Given the description of an element on the screen output the (x, y) to click on. 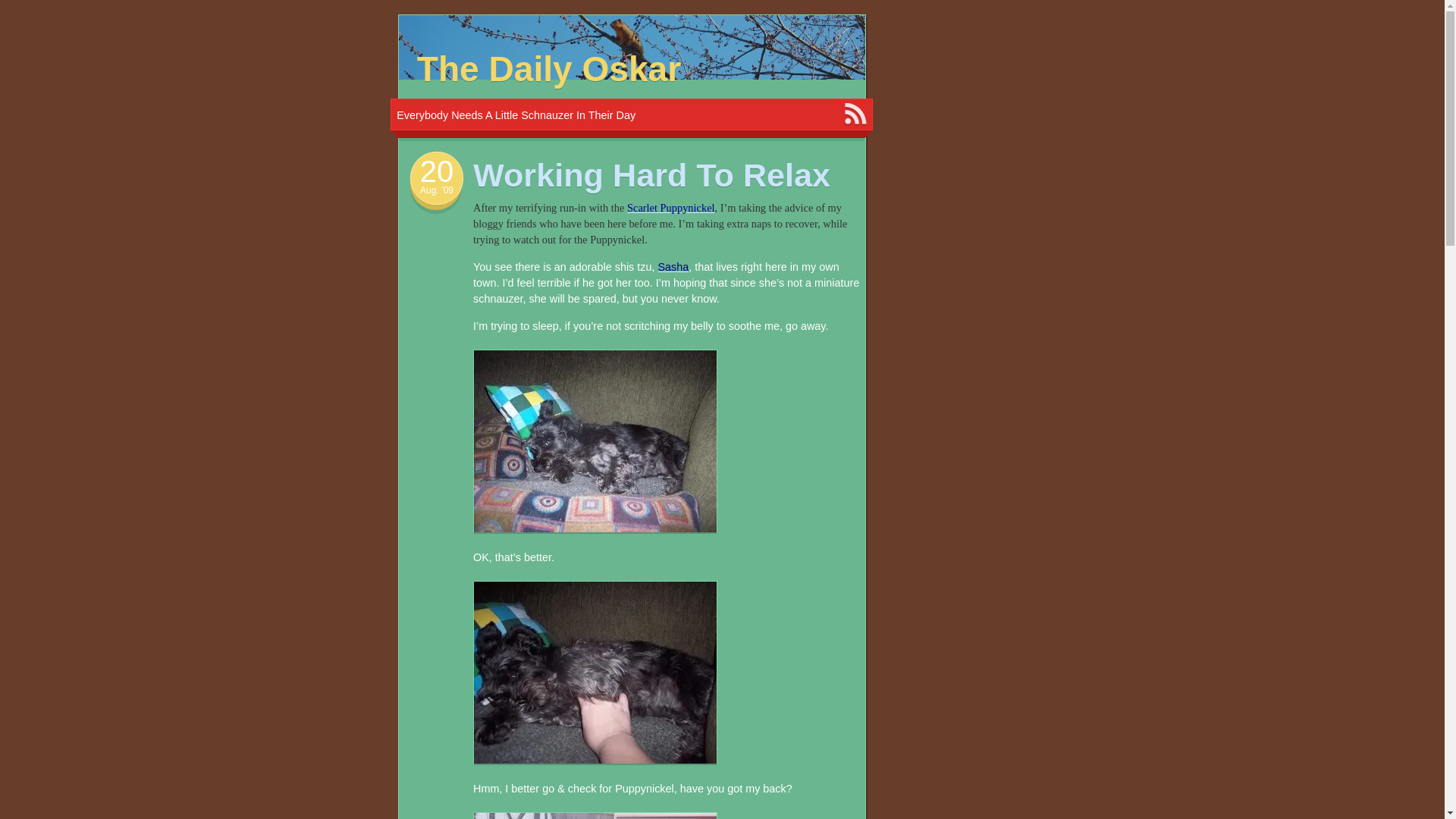
Skip to content (444, 26)
The Daily Oskar (548, 68)
Skip to content (444, 26)
Sasha (673, 266)
20 (437, 171)
Scarlet Puppynickel (670, 207)
The Daily Oskar (548, 68)
6:38 PM (436, 190)
6:38 PM (437, 171)
